Given the description of an element on the screen output the (x, y) to click on. 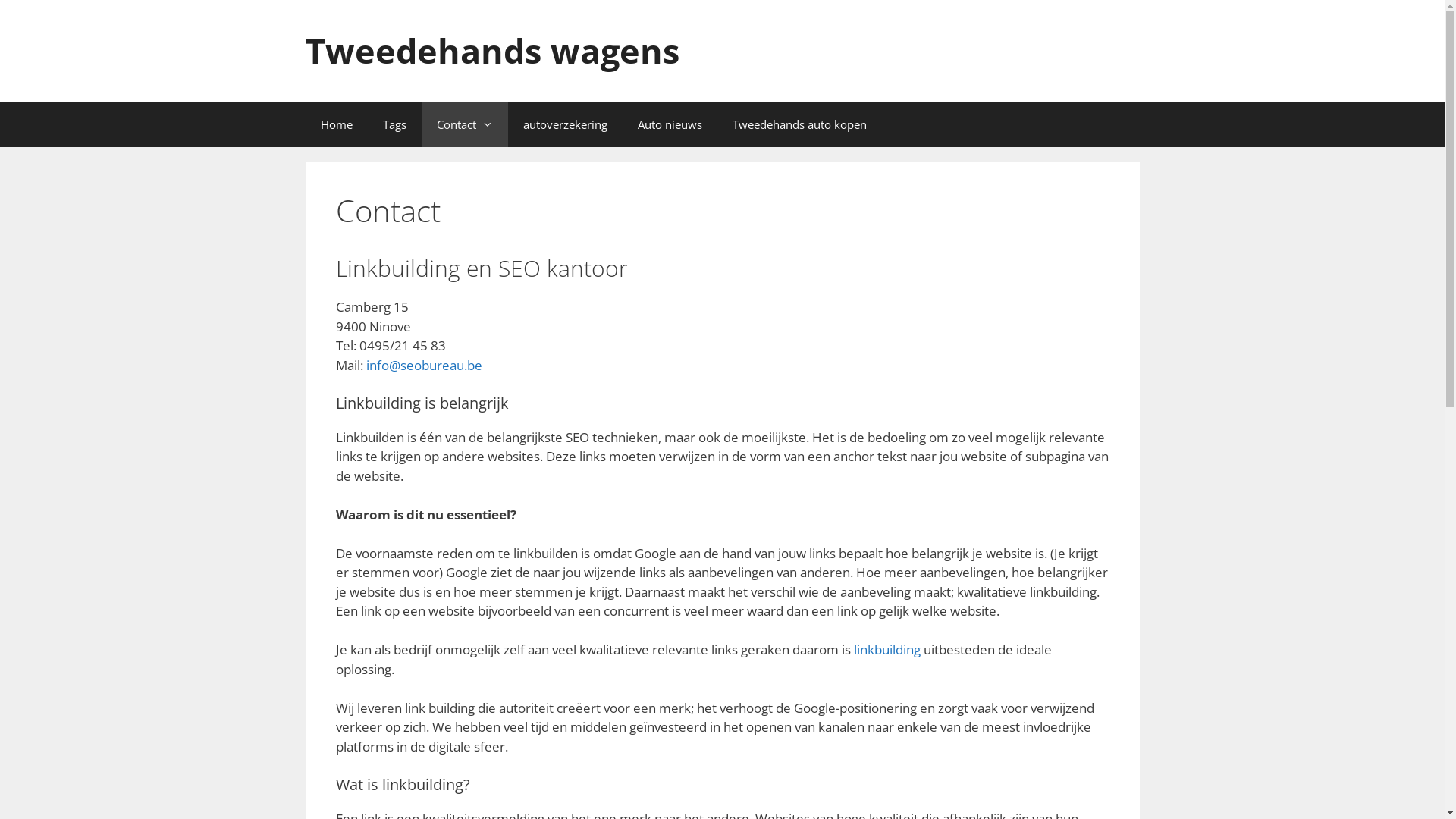
Tags Element type: text (393, 124)
linkbuilding Element type: text (886, 649)
Tweedehands auto kopen Element type: text (799, 124)
autoverzekering Element type: text (565, 124)
Tweedehands wagens Element type: text (491, 50)
Auto nieuws Element type: text (668, 124)
Contact Element type: text (464, 124)
Home Element type: text (335, 124)
info@seobureau.be Element type: text (423, 364)
